Given the description of an element on the screen output the (x, y) to click on. 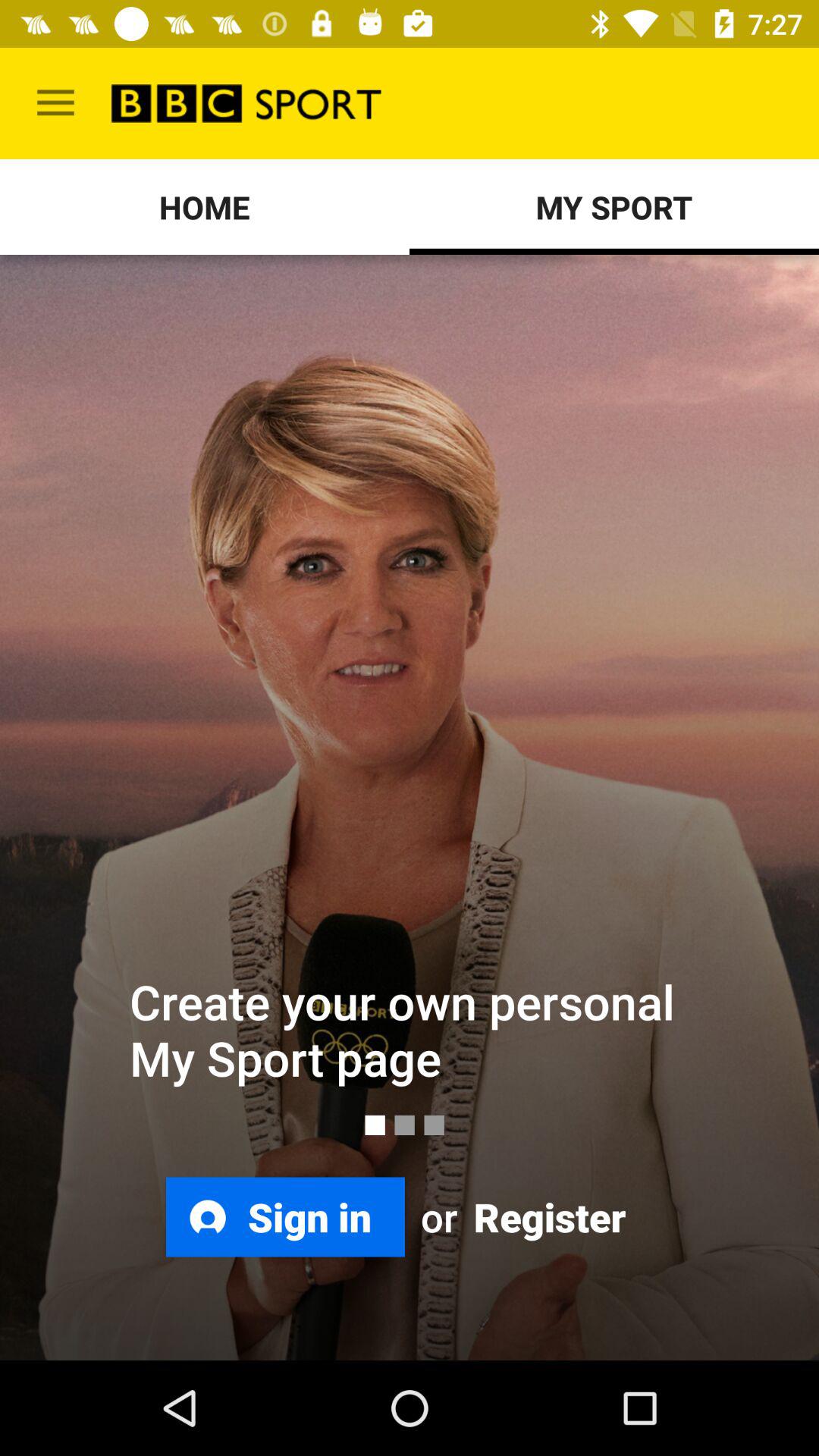
flip to home icon (204, 206)
